Given the description of an element on the screen output the (x, y) to click on. 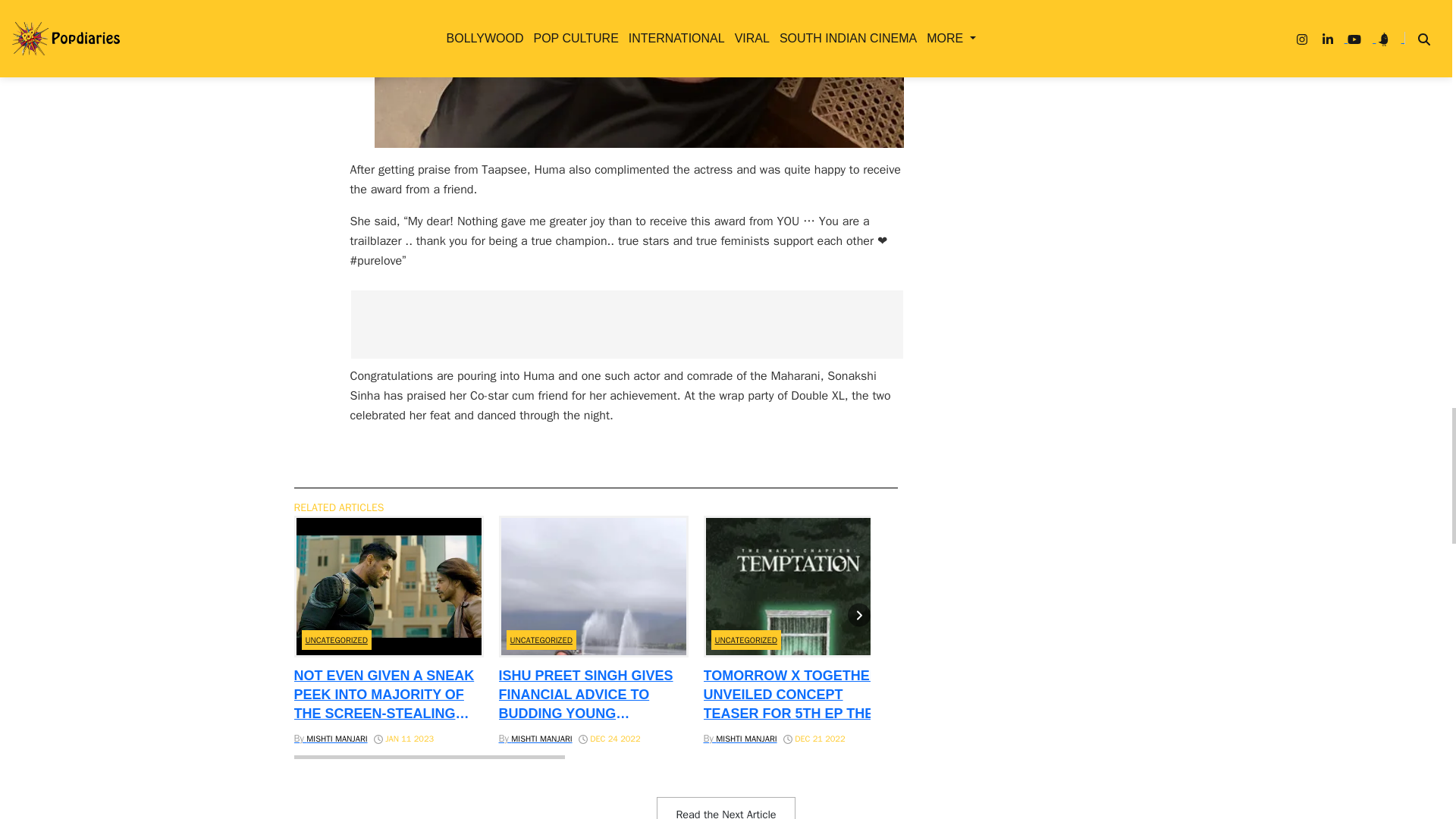
publive-image (639, 74)
